Given the description of an element on the screen output the (x, y) to click on. 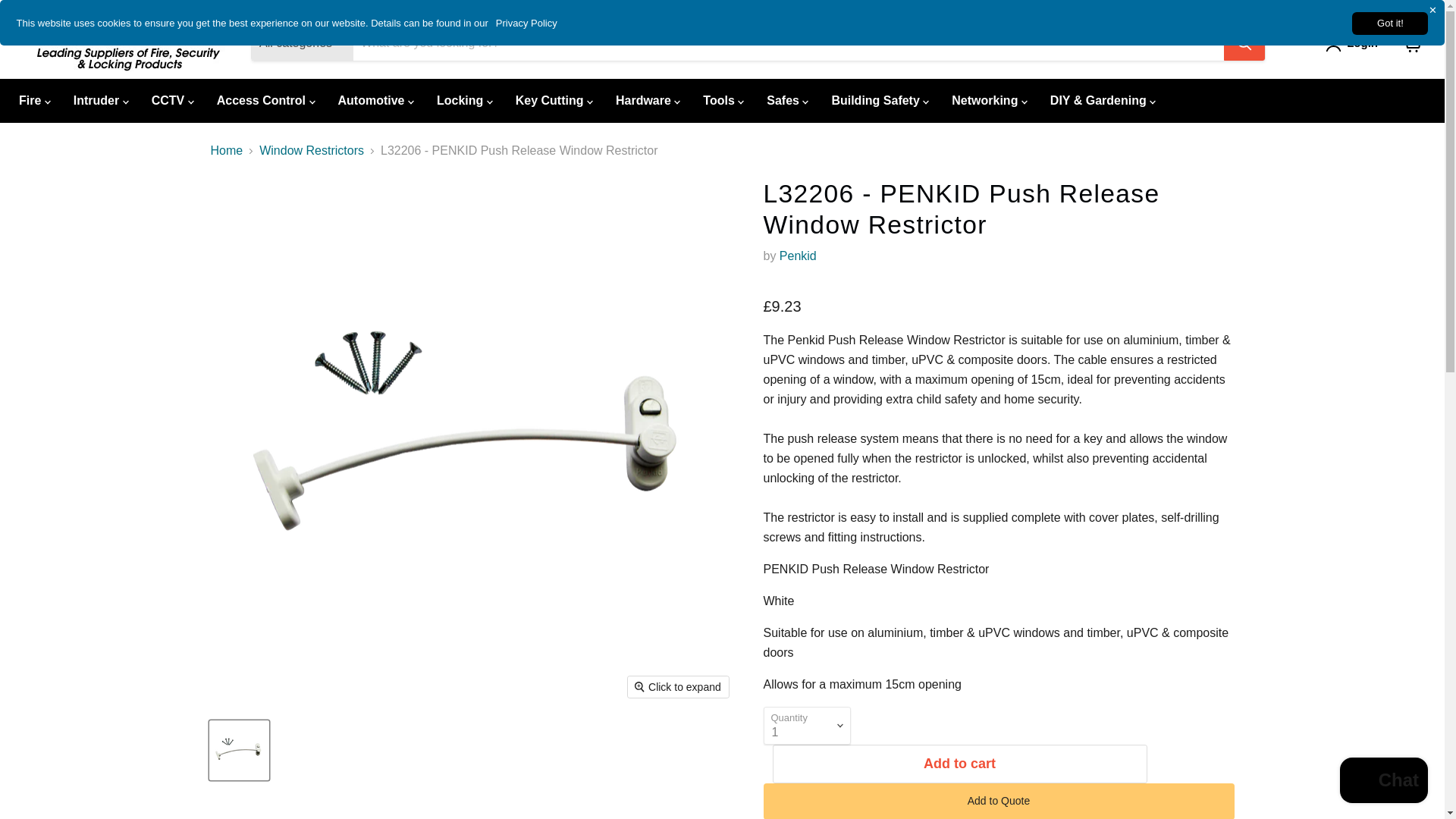
Shopify online store chat (1383, 781)
Penkid (797, 255)
View cart (1411, 42)
Login (1362, 43)
